Given the description of an element on the screen output the (x, y) to click on. 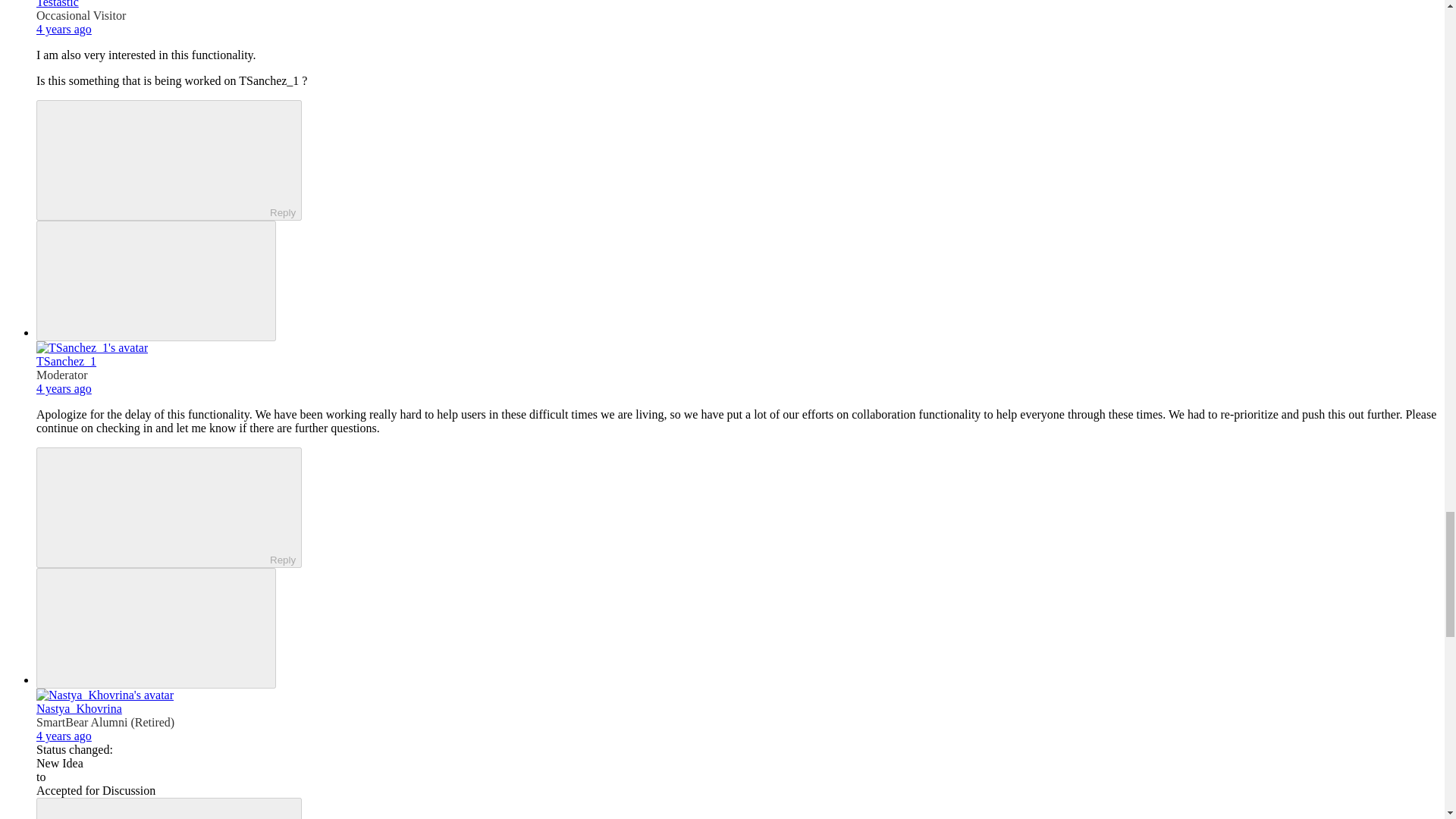
July 31, 2020 at 8:21 AM (63, 29)
December 25, 2020 at 7:04 AM (63, 735)
Reply (155, 159)
July 31, 2020 at 11:56 AM (63, 388)
